Given the description of an element on the screen output the (x, y) to click on. 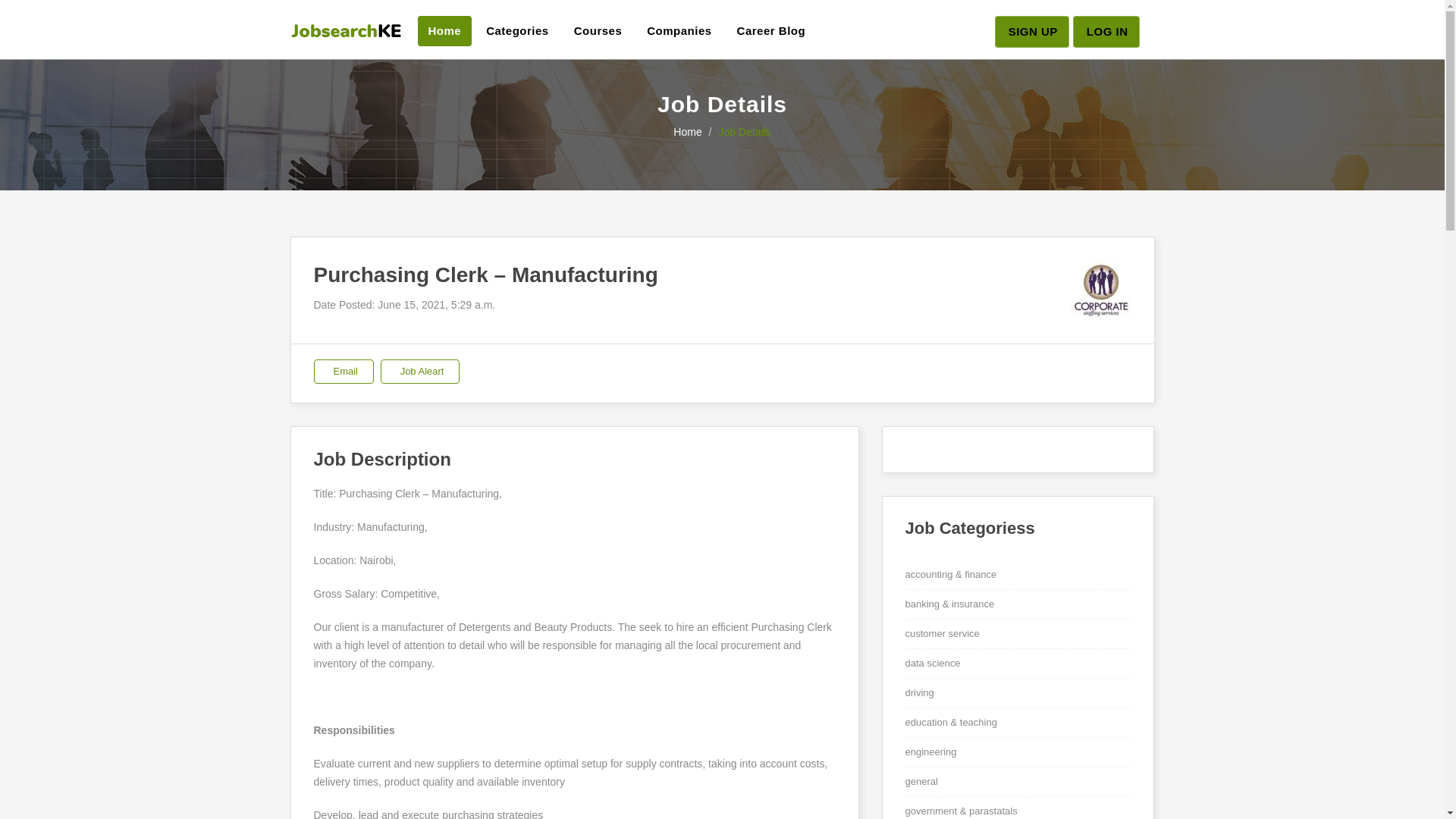
Categories (517, 30)
Home (443, 30)
